Given the description of an element on the screen output the (x, y) to click on. 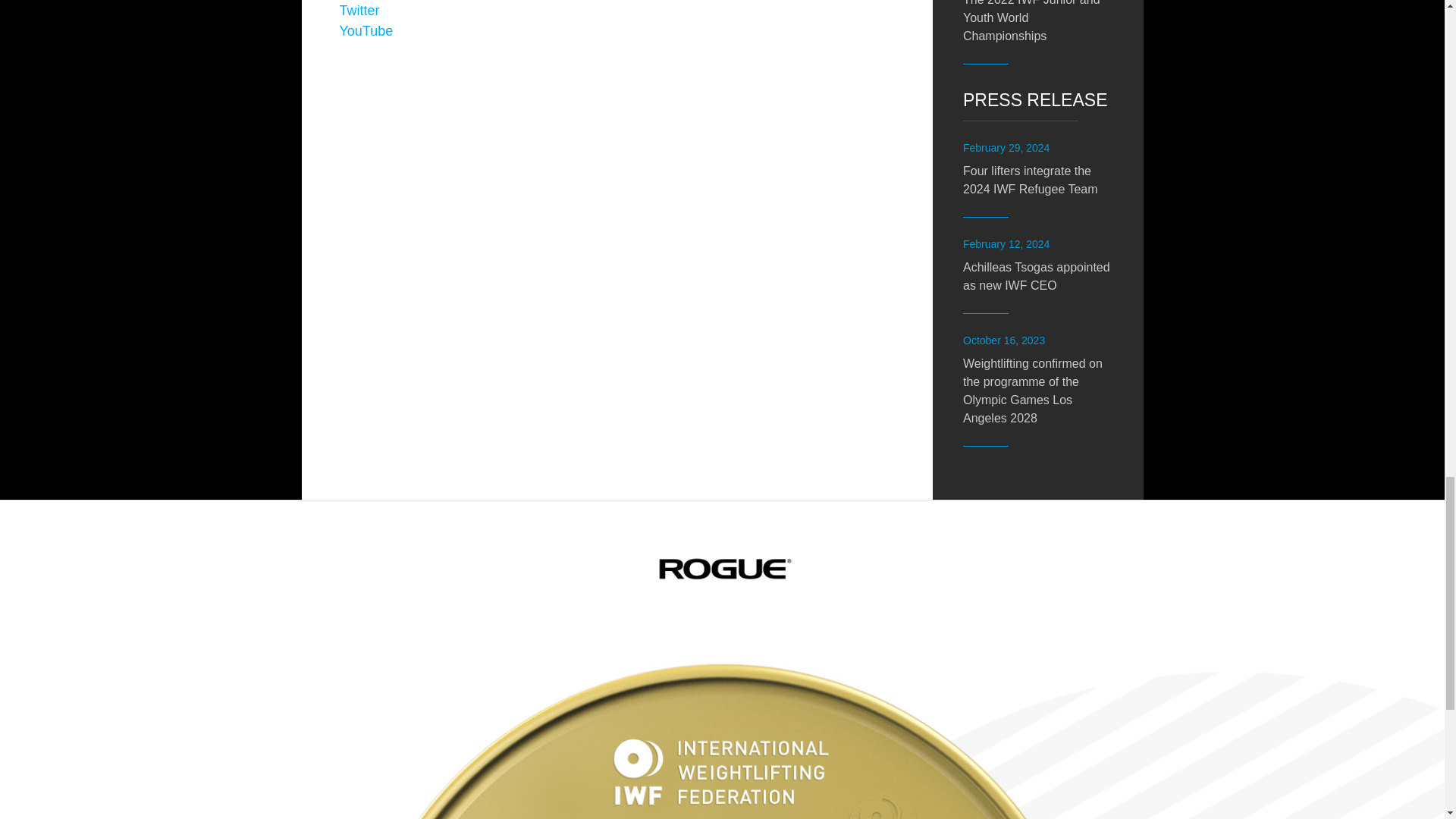
Rogue Fitness (722, 568)
